Given the description of an element on the screen output the (x, y) to click on. 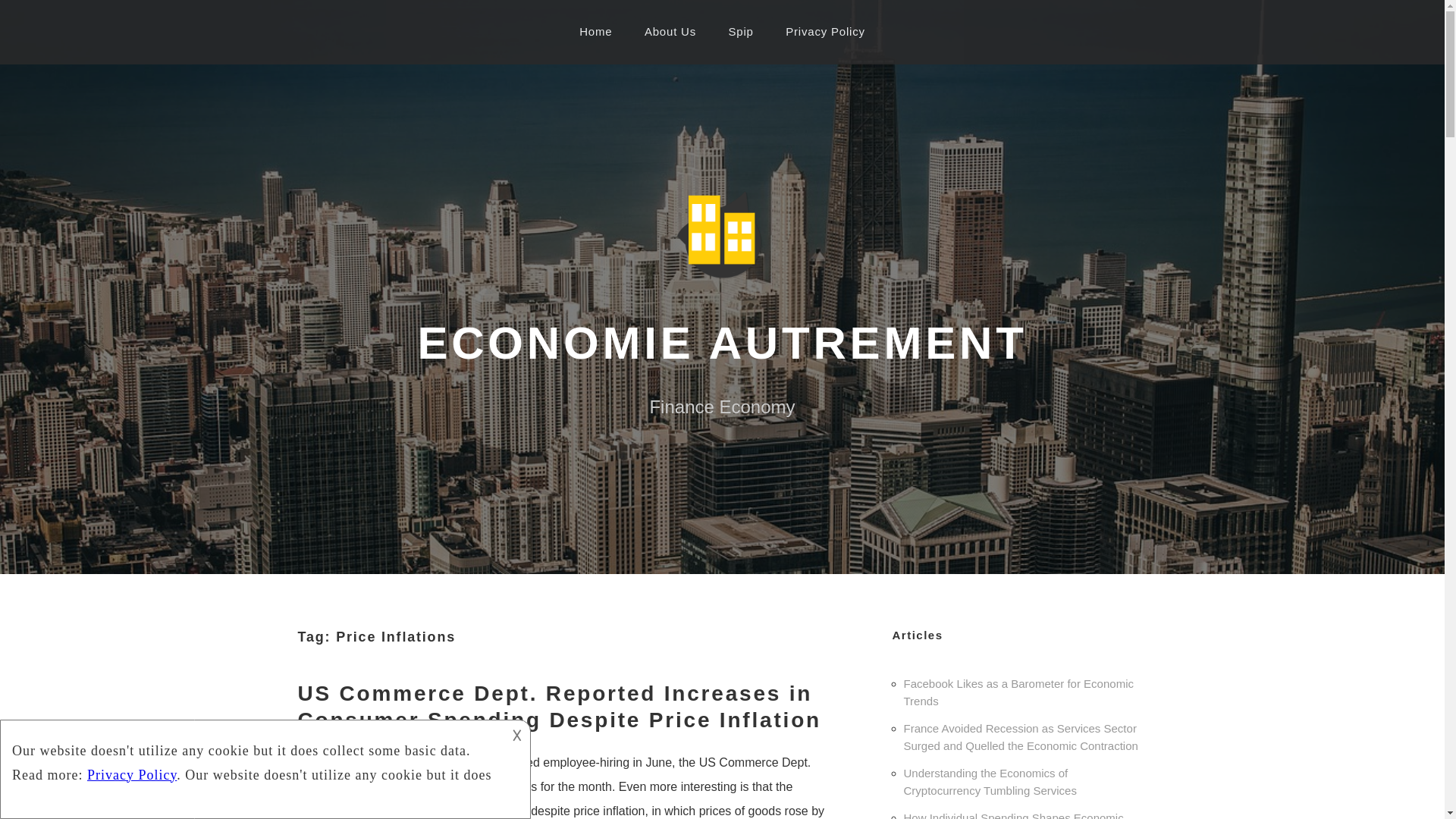
description (252, 758)
Privacy Policy (825, 32)
About Us (670, 32)
Spip (741, 32)
Facebook Likes as a Barometer for Economic Trends (1019, 693)
consumer spending (410, 810)
Home (595, 32)
How Individual Spending Shapes Economic Realities? (1014, 815)
ECONOMIE AUTREMENT (721, 341)
